Given the description of an element on the screen output the (x, y) to click on. 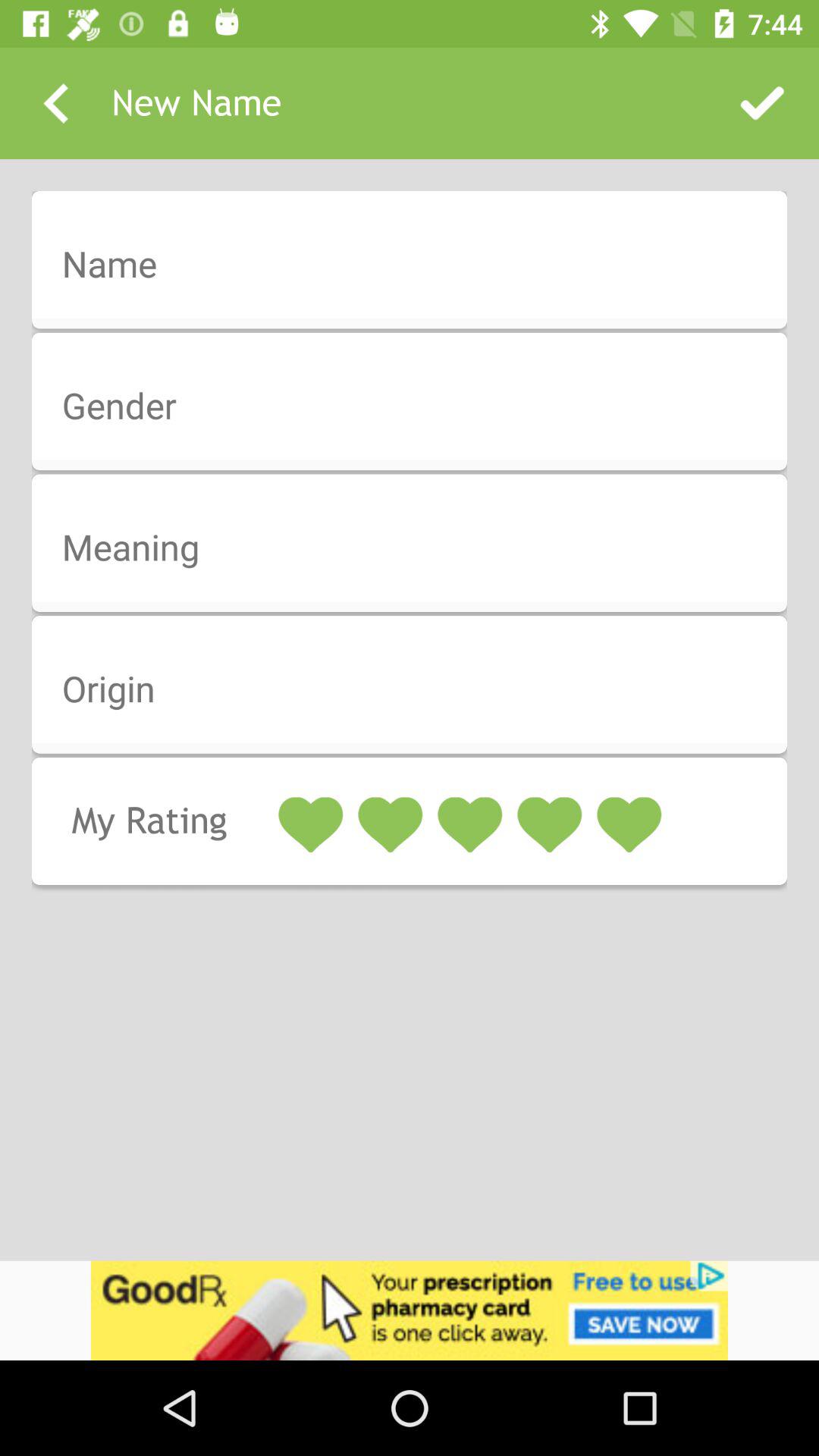
gender field (419, 406)
